Given the description of an element on the screen output the (x, y) to click on. 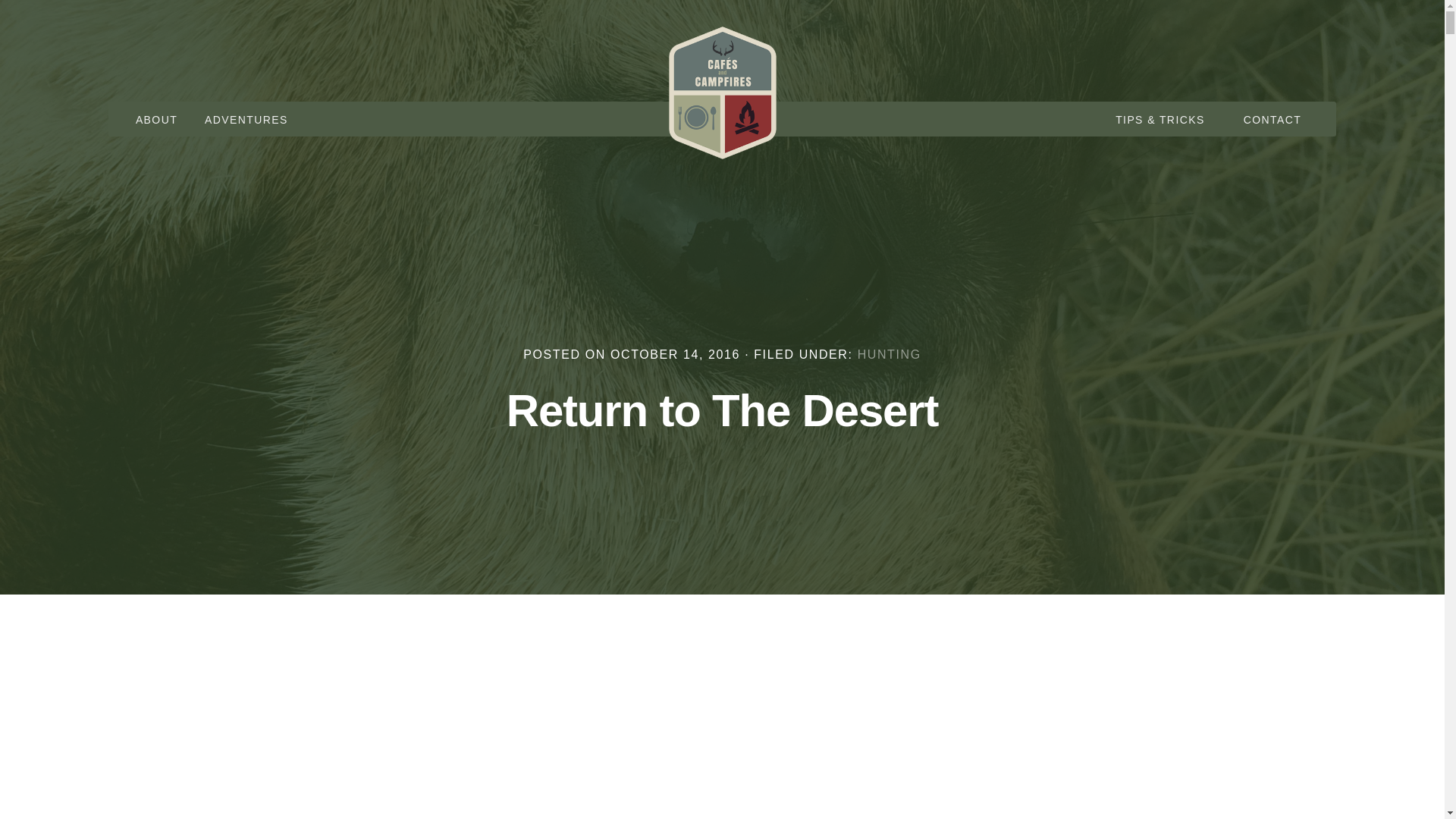
ABOUT (156, 119)
HUNTING (889, 353)
ADVENTURES (246, 119)
Cafes and Campfires (721, 92)
Advertisement (721, 740)
CONTACT (1272, 119)
